Given the description of an element on the screen output the (x, y) to click on. 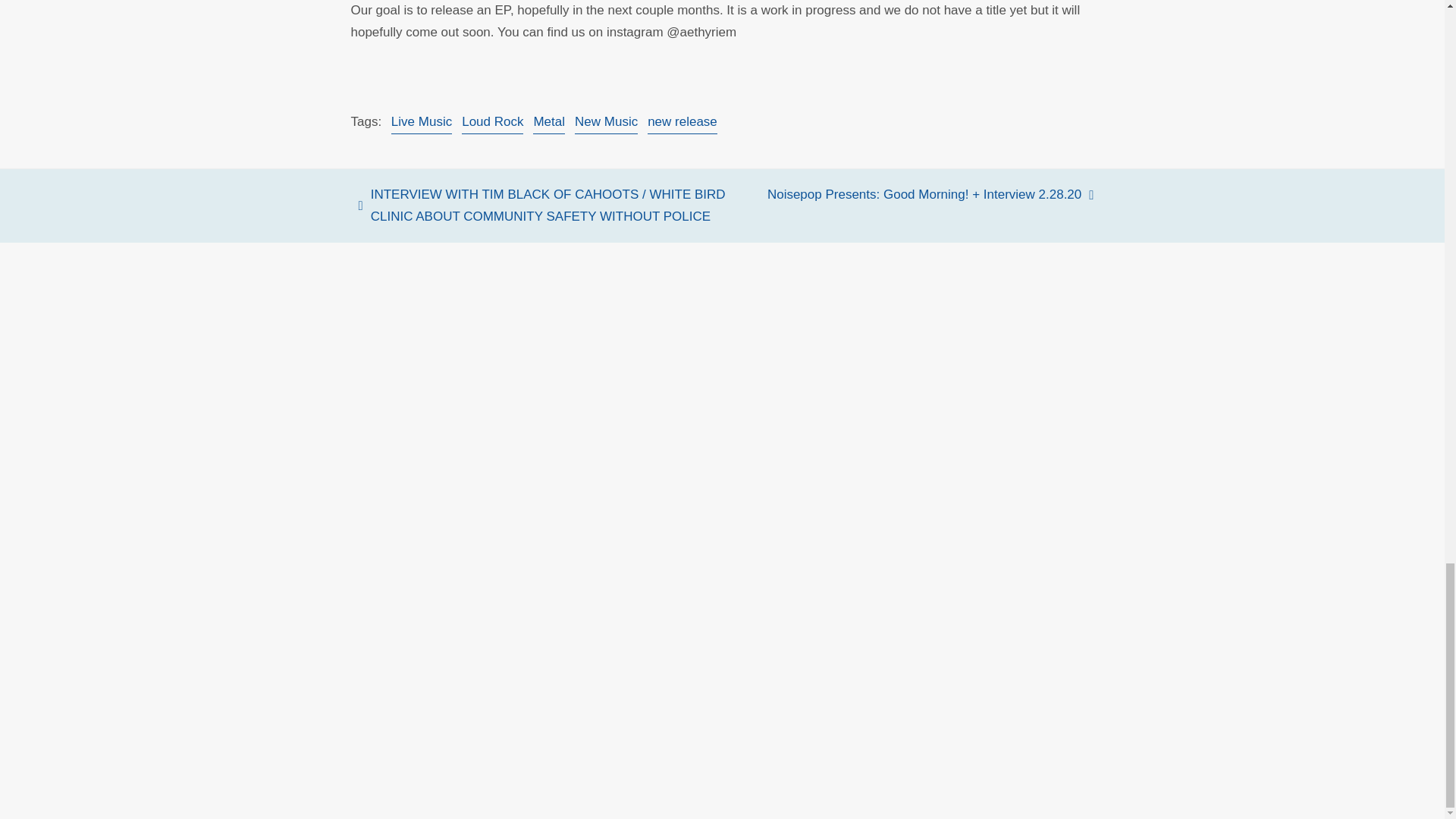
Live Music (421, 122)
